Given the description of an element on the screen output the (x, y) to click on. 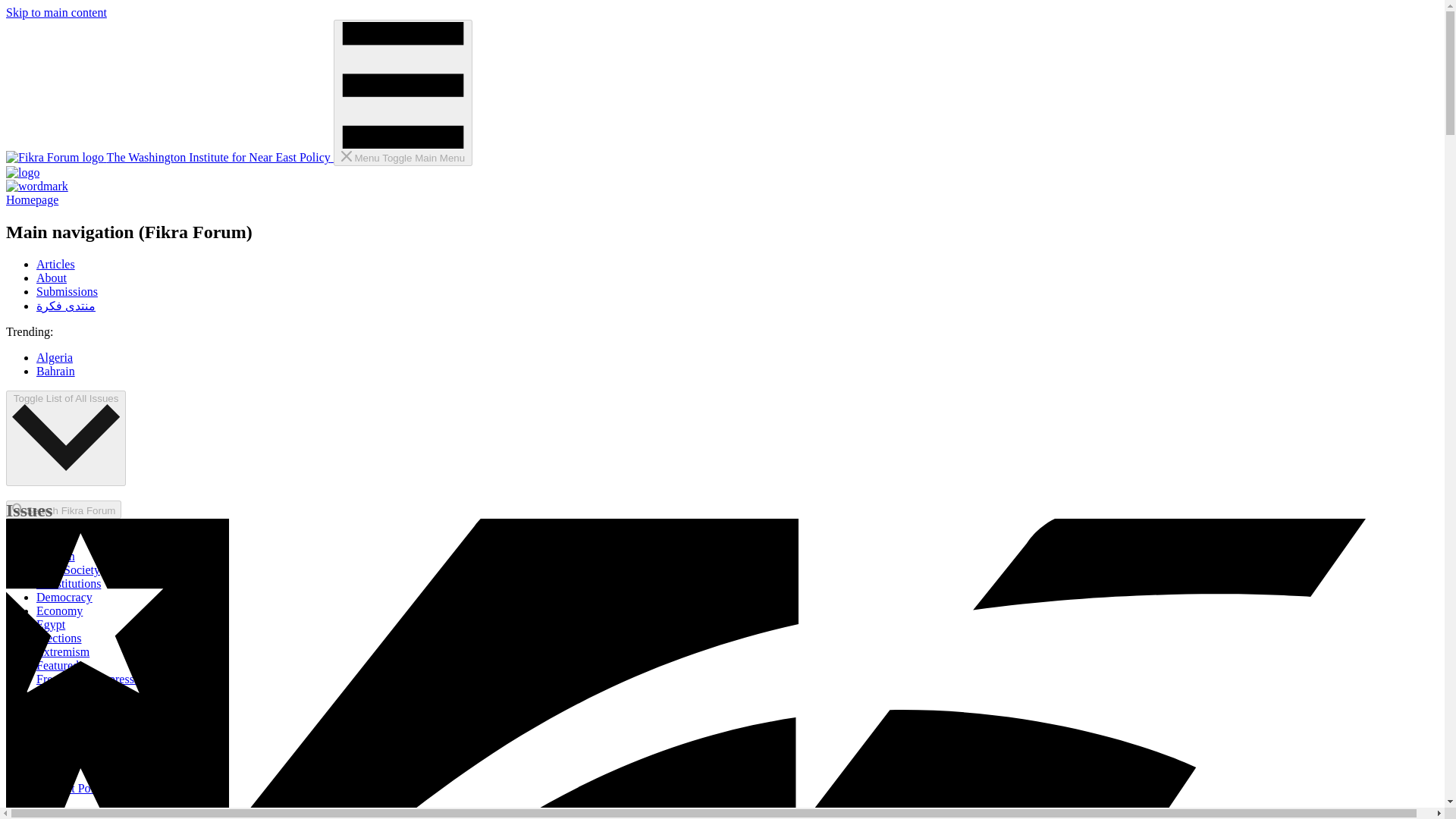
Featured (57, 665)
Elections (58, 637)
Algeria (54, 357)
Gaza (48, 692)
The Washington Institute for Near East Policy (169, 156)
Islamist Politics (75, 788)
Gulf Countries (72, 719)
Submissions (66, 291)
ISIS (47, 774)
Menu Toggle Main Menu (402, 92)
